Given the description of an element on the screen output the (x, y) to click on. 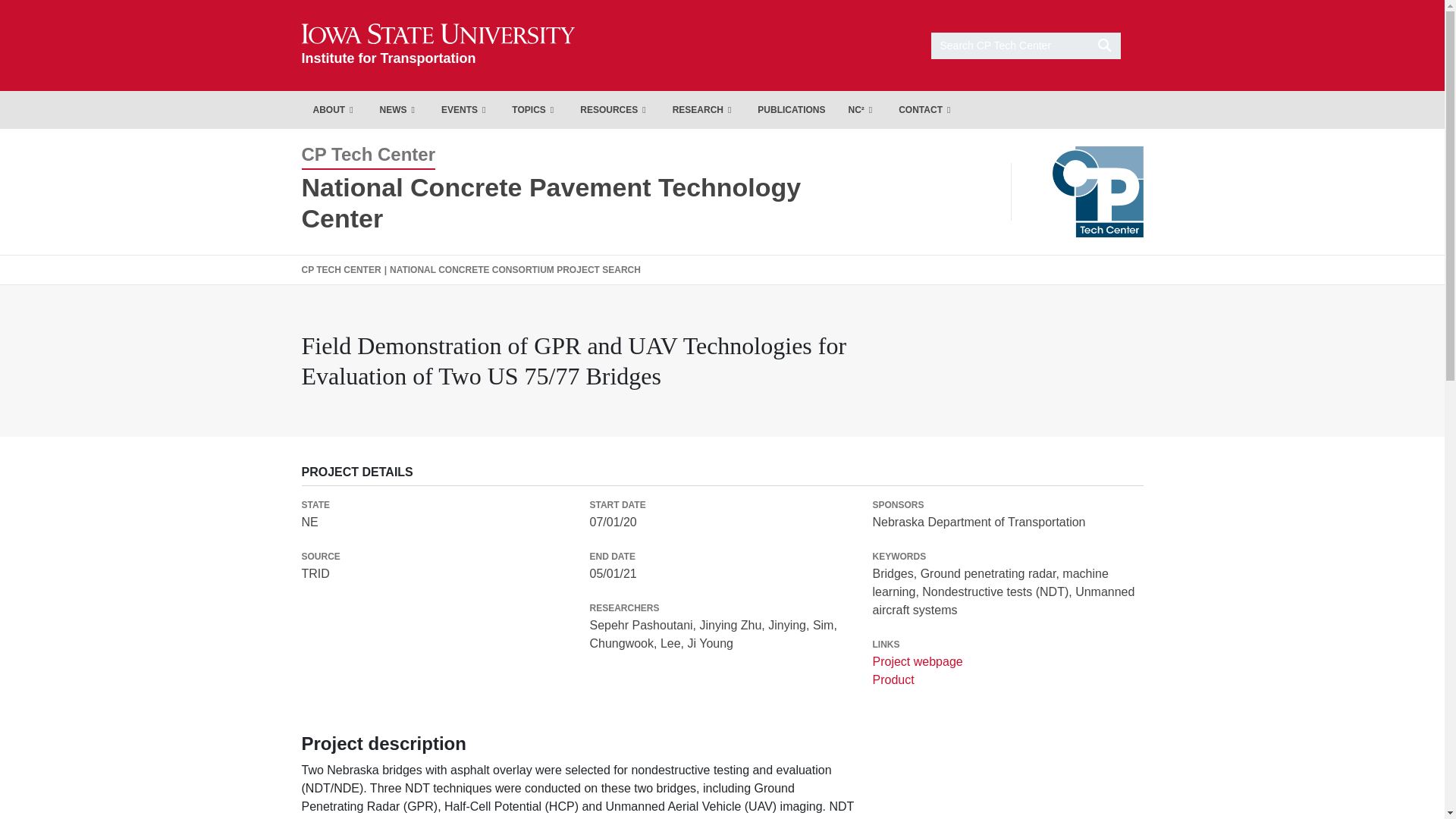
RESOURCES (615, 109)
TOPICS (438, 44)
EVENTS (534, 109)
Search (464, 109)
Submit (398, 109)
Search (334, 109)
Search (438, 44)
